Given the description of an element on the screen output the (x, y) to click on. 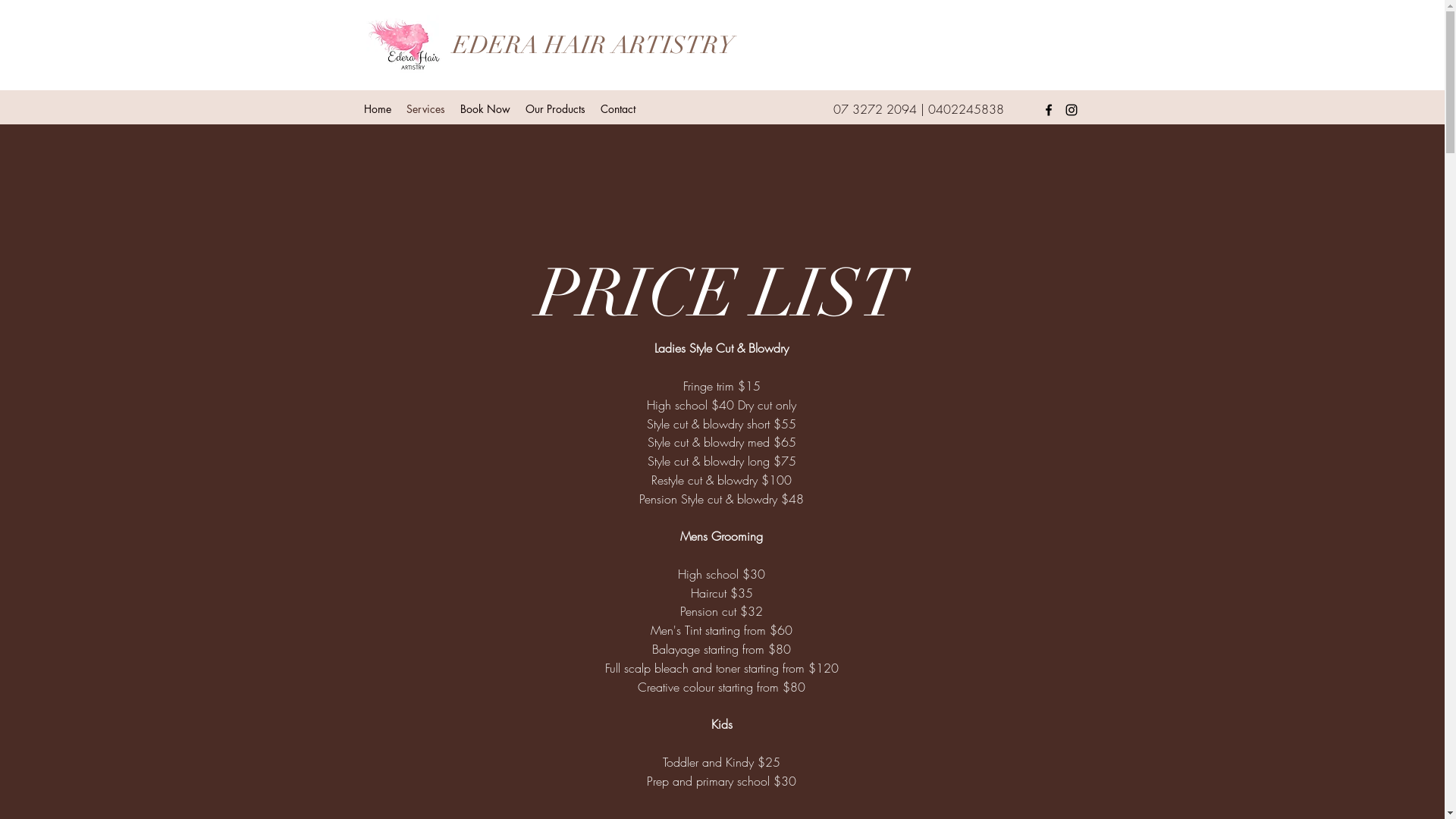
Our Products Element type: text (554, 108)
Book Now Element type: text (484, 108)
Services Element type: text (425, 108)
Home Element type: text (377, 108)
Contact Element type: text (618, 108)
